Given the description of an element on the screen output the (x, y) to click on. 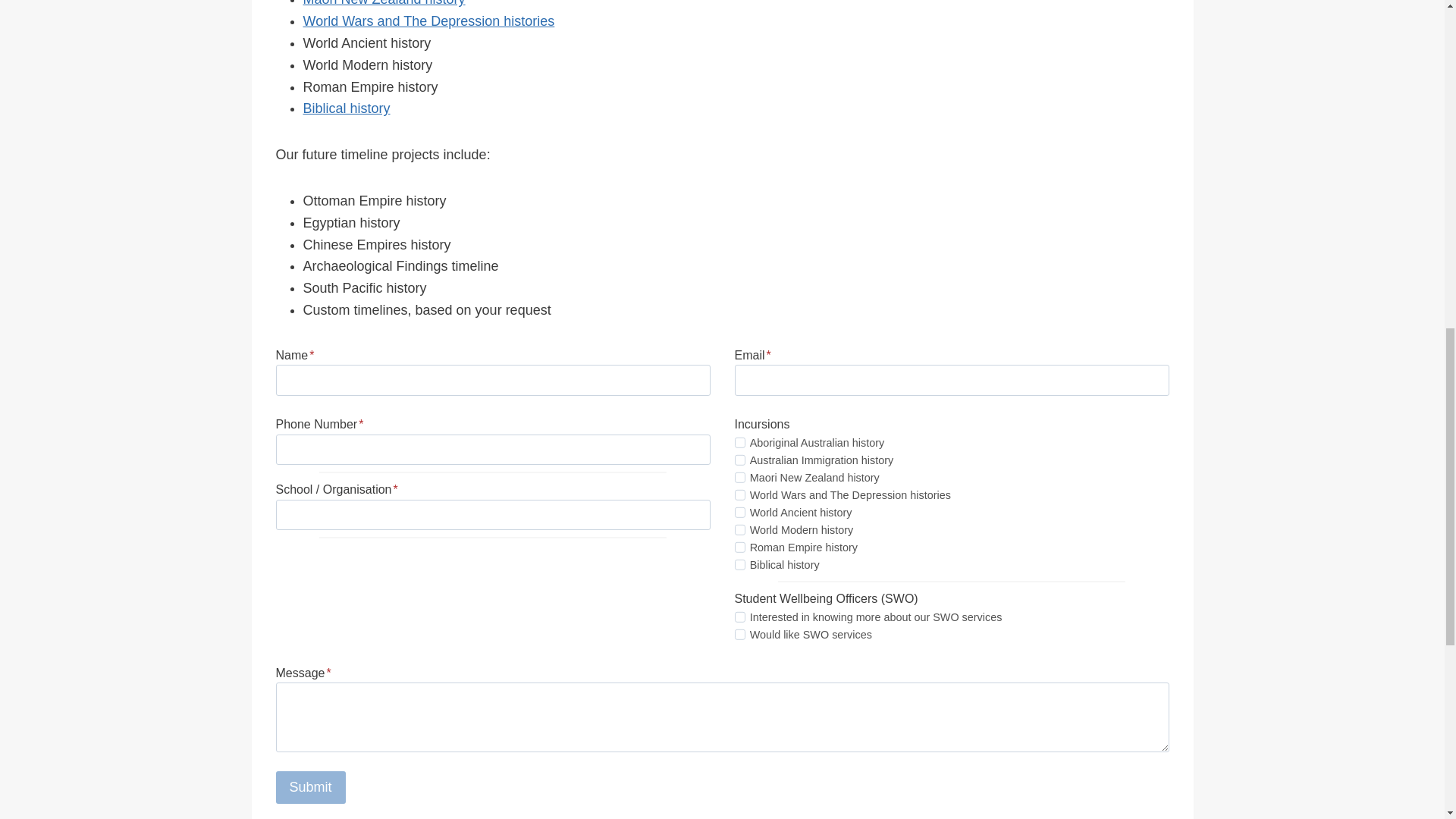
Maori New Zealand history (738, 477)
World Modern history (738, 529)
Roman Empire history (738, 547)
World Wars and The Depression histories (738, 494)
Biblical history (738, 564)
Interested in knowing more about our SWO services (738, 615)
World Ancient history (738, 511)
Submit (311, 787)
Biblical history (346, 108)
World Wars and The Depression histories (428, 20)
